Given the description of an element on the screen output the (x, y) to click on. 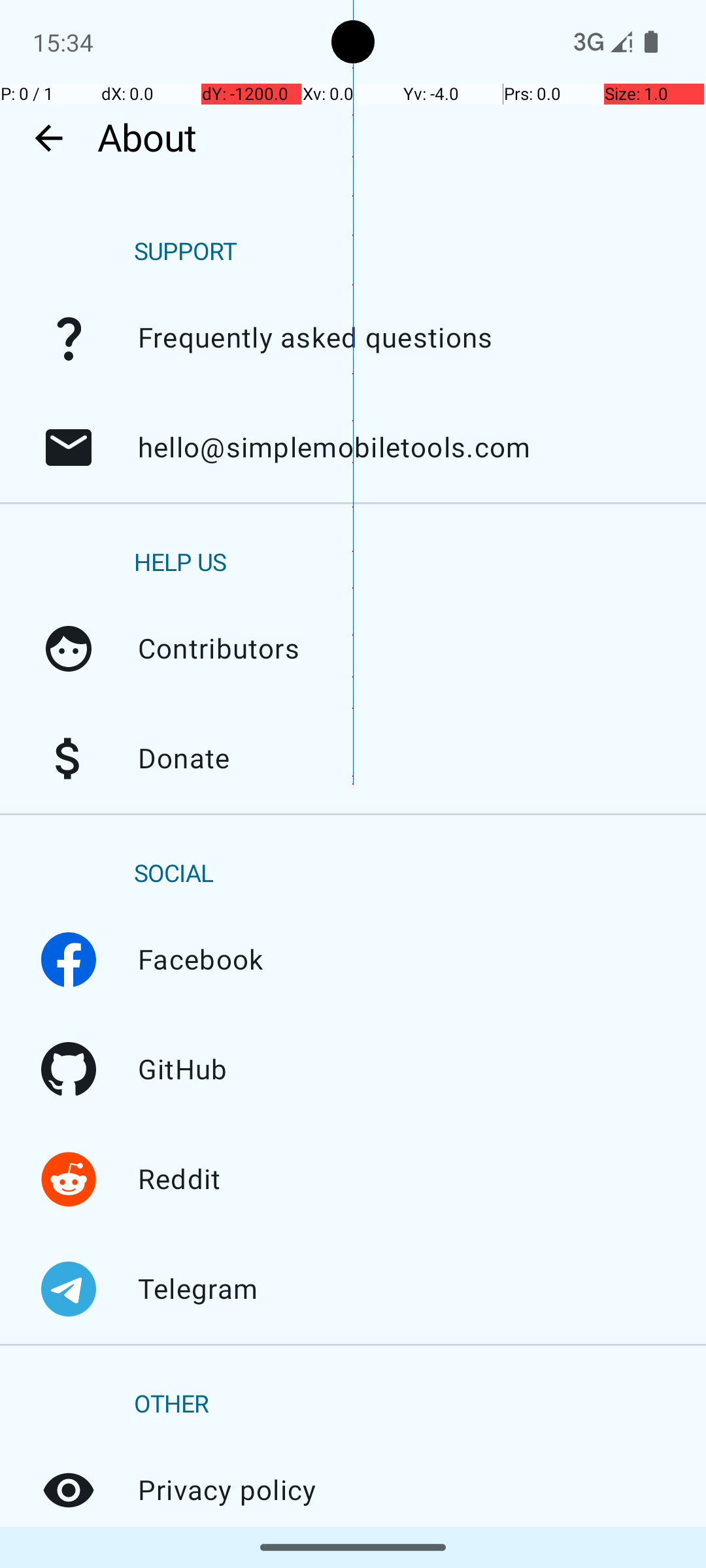
SUPPORT Element type: android.widget.TextView (185, 251)
HELP US Element type: android.widget.TextView (180, 562)
SOCIAL Element type: android.widget.TextView (173, 873)
OTHER Element type: android.widget.TextView (171, 1404)
Frequently asked questions Element type: android.view.View (68, 337)
hello@simplemobiletools.com Element type: android.view.View (68, 447)
Donate Element type: android.view.View (68, 758)
GitHub Element type: android.view.View (68, 1069)
Reddit Element type: android.view.View (68, 1178)
Telegram Element type: android.view.View (68, 1288)
Privacy policy Element type: android.view.View (68, 1489)
